Given the description of an element on the screen output the (x, y) to click on. 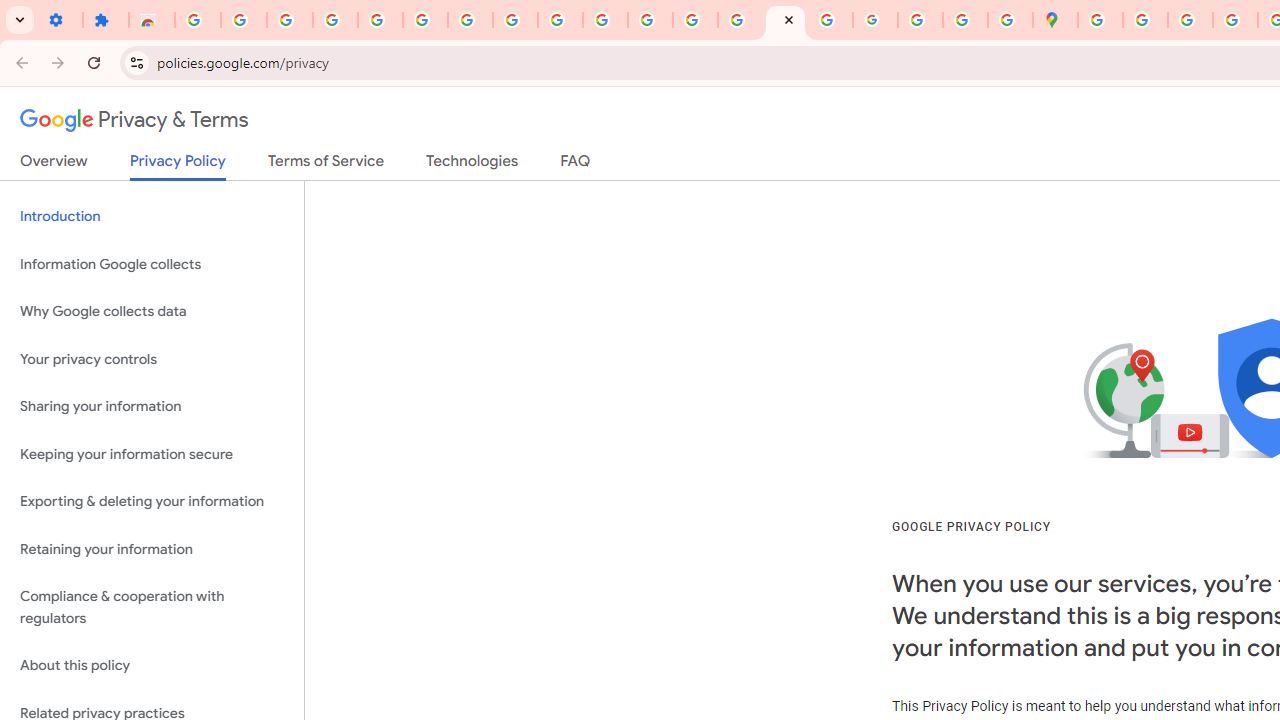
Google Maps (1055, 20)
About this policy (152, 666)
Settings - On startup (60, 20)
